Given the description of an element on the screen output the (x, y) to click on. 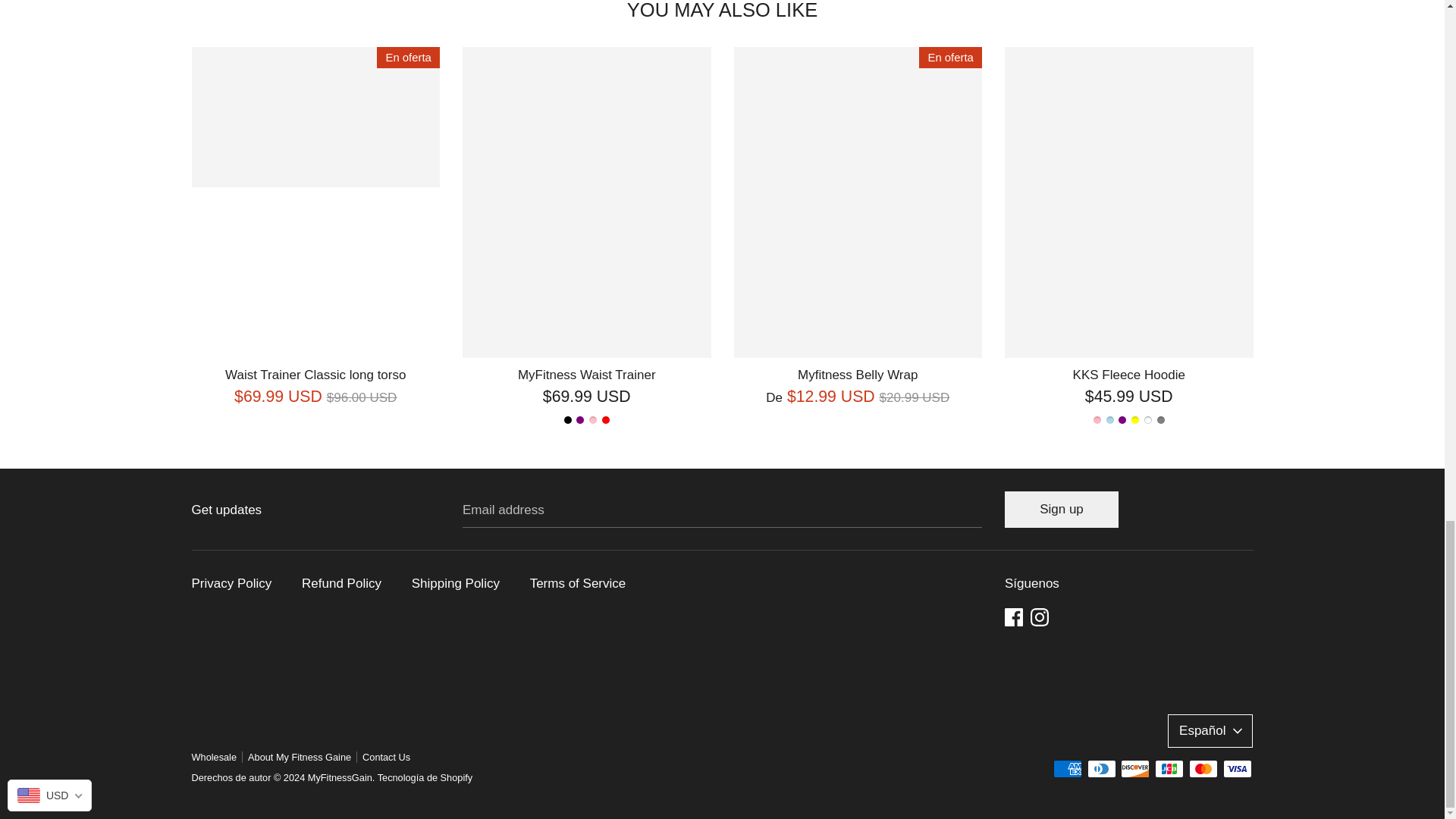
Diners Club (1101, 769)
JCB (1168, 769)
Visa (1236, 769)
American Express (1066, 769)
Mastercard (1203, 769)
Discover (1135, 769)
